Given the description of an element on the screen output the (x, y) to click on. 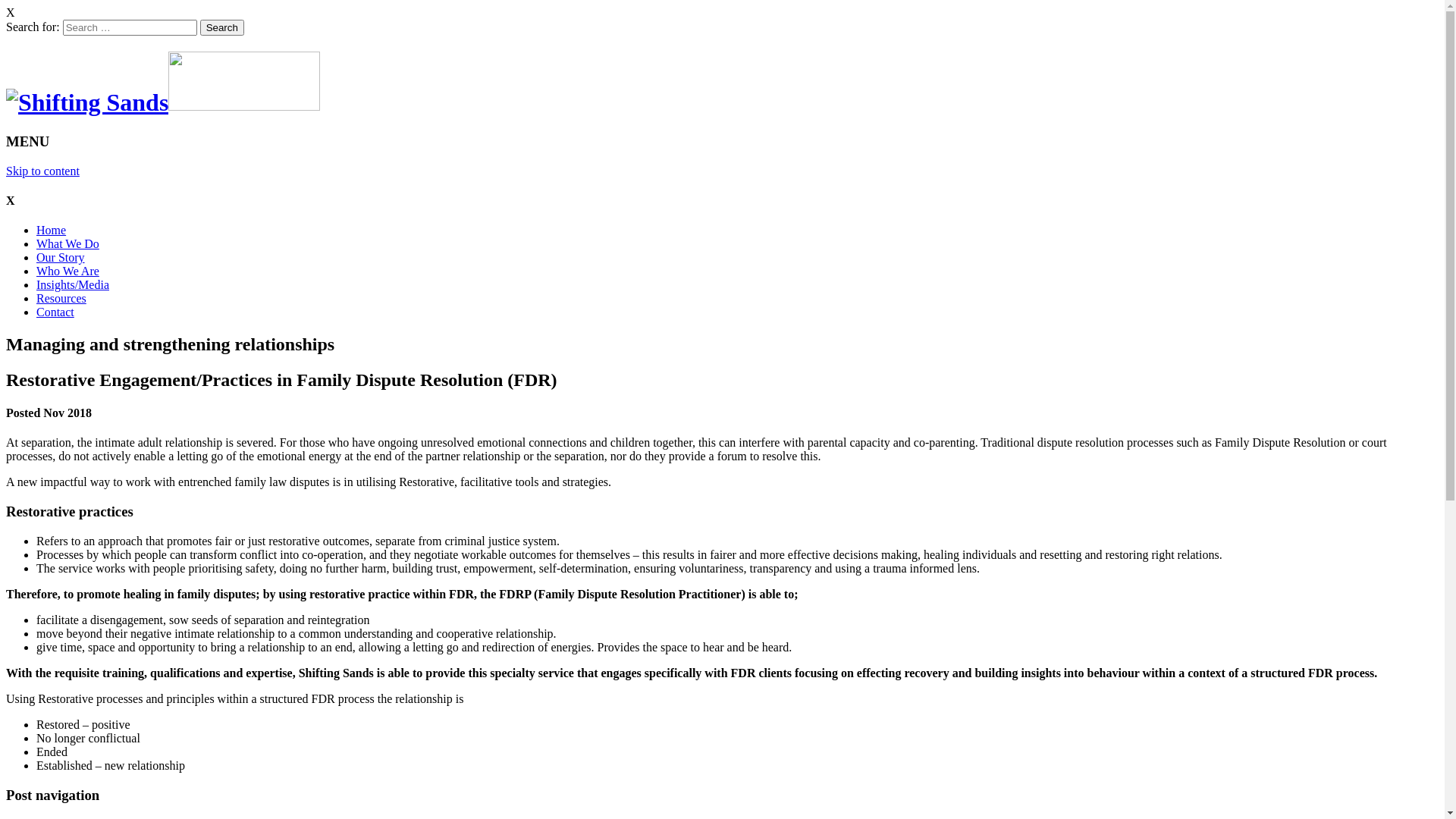
Home Element type: text (50, 229)
Skip to content Element type: text (42, 170)
Insights/Media Element type: text (72, 284)
Contact Element type: text (55, 311)
Search Element type: text (222, 27)
Resources Element type: text (61, 297)
Our Story Element type: text (60, 257)
Who We Are Element type: text (67, 270)
What We Do Element type: text (67, 243)
